Given the description of an element on the screen output the (x, y) to click on. 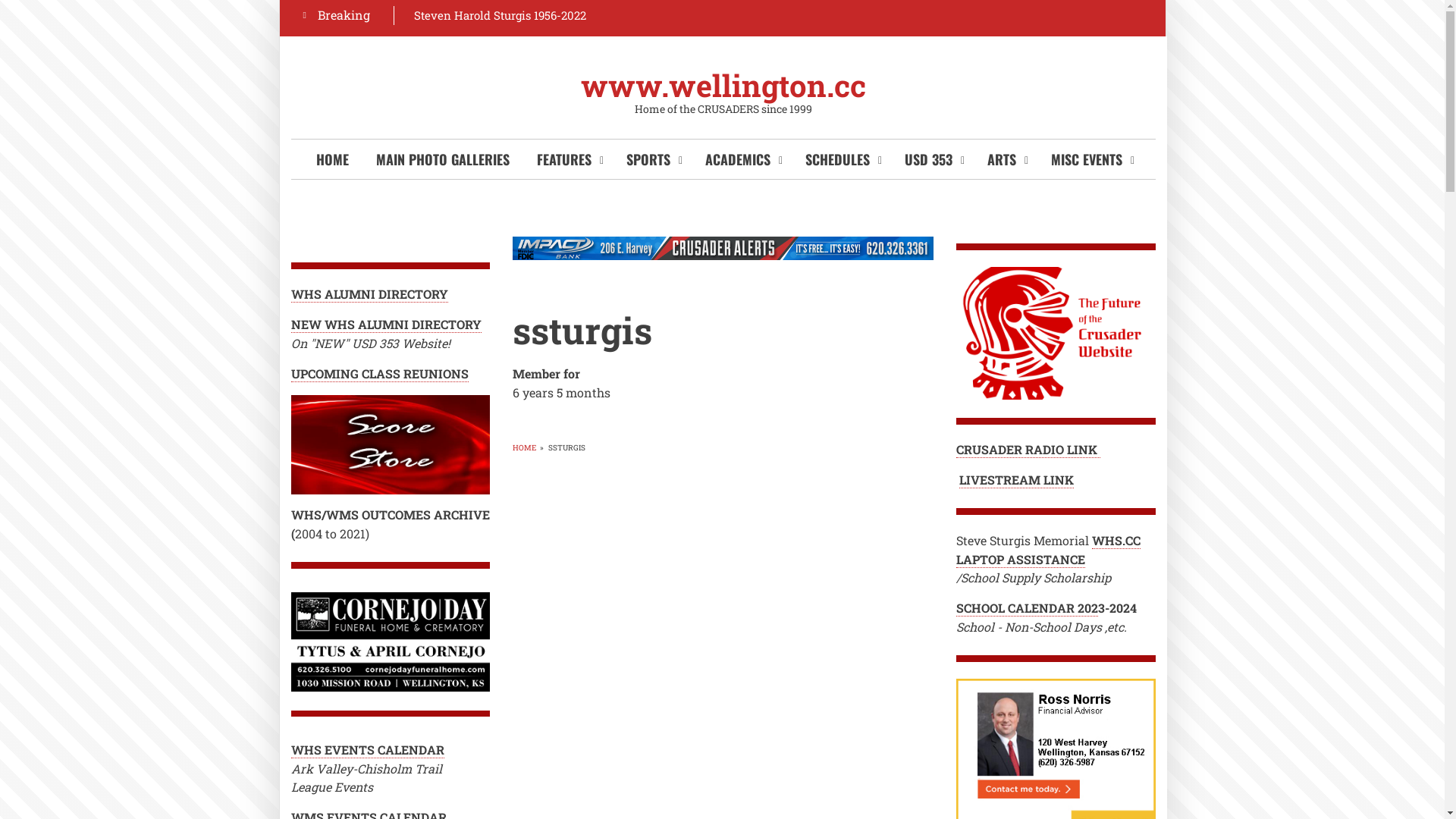
CRUSADER RADIO LINK  Element type: text (1028, 449)
www.wellington.cc Element type: text (723, 85)
SCHOOL CALENDAR 202 Element type: text (1027, 607)
ACADEMICS Element type: text (741, 158)
SCHEDULES Element type: text (841, 158)
ARTS Element type: text (1005, 158)
MISC EVENTS Element type: text (1090, 158)
LIVESTREAM LINK Element type: text (1016, 479)
USD 353 Element type: text (932, 158)
twitter Element type: text (931, 15)
UPCOMING CLASS REUNIONS Element type: text (379, 373)
WHS EVENTS CALENDAR Element type: text (367, 749)
NEW WHS ALUMNI DIRECTORY Element type: text (386, 324)
Skip to main content Element type: text (0, 0)
SPORTS Element type: text (651, 158)
facebook Element type: text (966, 15)
HOME Element type: text (524, 447)
facebook Element type: text (897, 15)
WHS ALUMNI DIRECTORY Element type: text (369, 293)
WHS.CC LAPTOP ASSISTANCE Element type: text (1048, 549)
Steven Harold Sturgis 1956-2022 Element type: text (500, 14)
Breaking Element type: text (340, 15)
MAIN PHOTO GALLERIES Element type: text (442, 158)
FEATURES Element type: text (567, 158)
HOME Element type: text (332, 158)
